Given the description of an element on the screen output the (x, y) to click on. 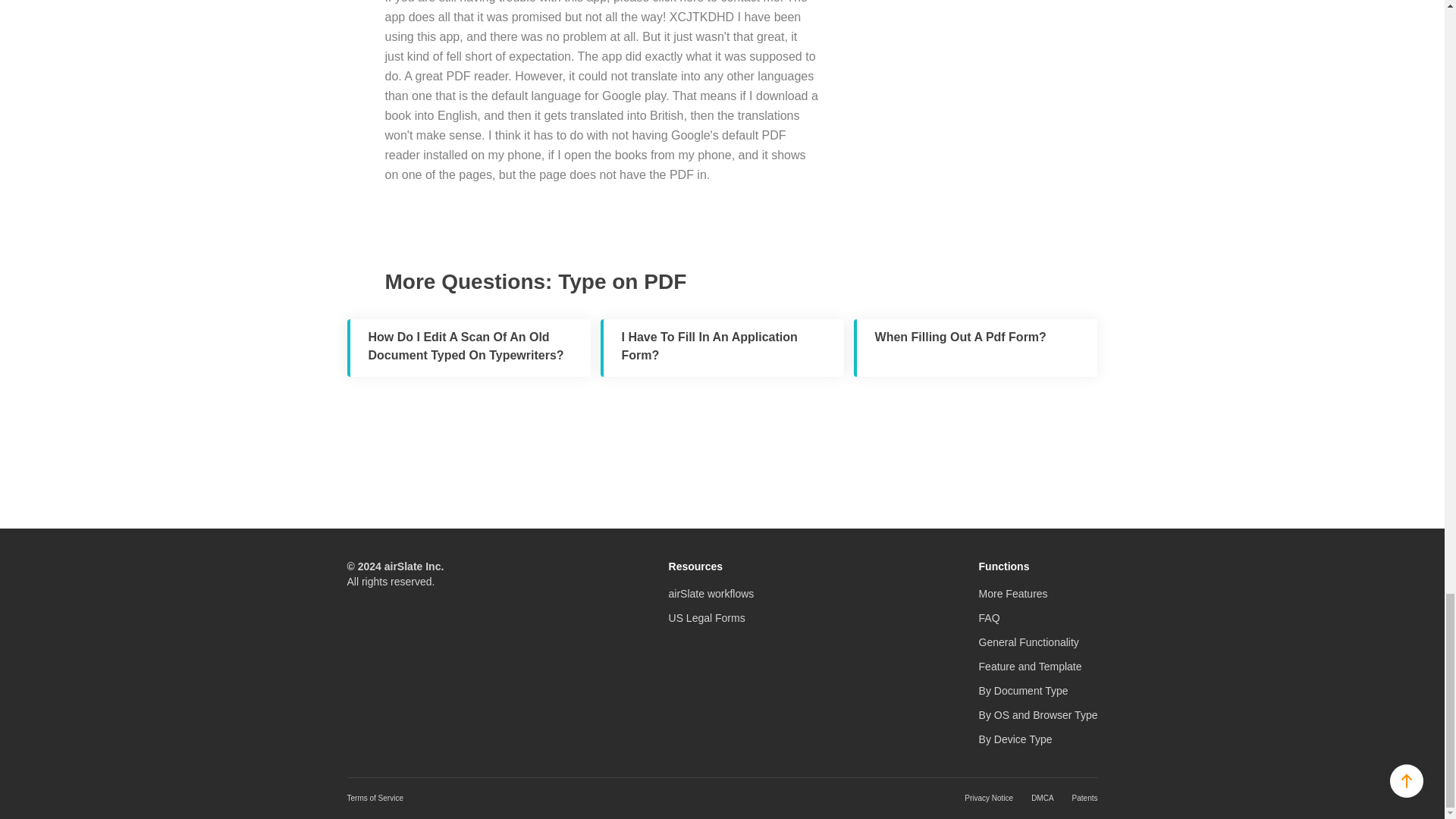
FAQ (989, 617)
General Functionality (1028, 642)
airSlate workflows (711, 593)
US Legal Forms (706, 617)
By Device Type (1015, 739)
More Features (1013, 593)
By Document Type (1023, 690)
Terms of Service (375, 797)
When Filling Out A Pdf Form? (975, 347)
